Given the description of an element on the screen output the (x, y) to click on. 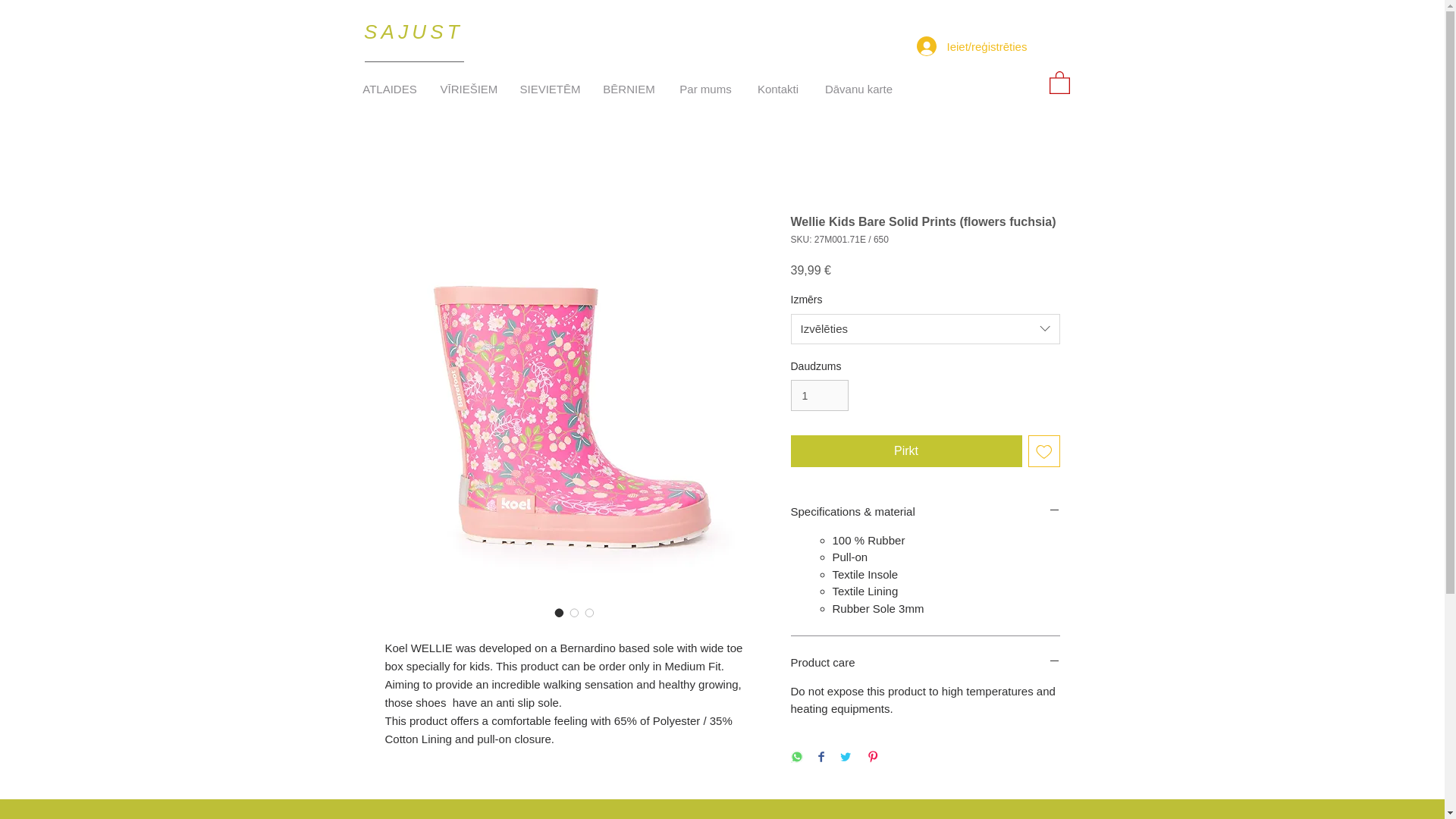
SAJUST (413, 31)
Par mums (705, 89)
Pirkt (906, 450)
Kontakti (778, 89)
ATLAIDES (389, 89)
1 (818, 395)
